Given the description of an element on the screen output the (x, y) to click on. 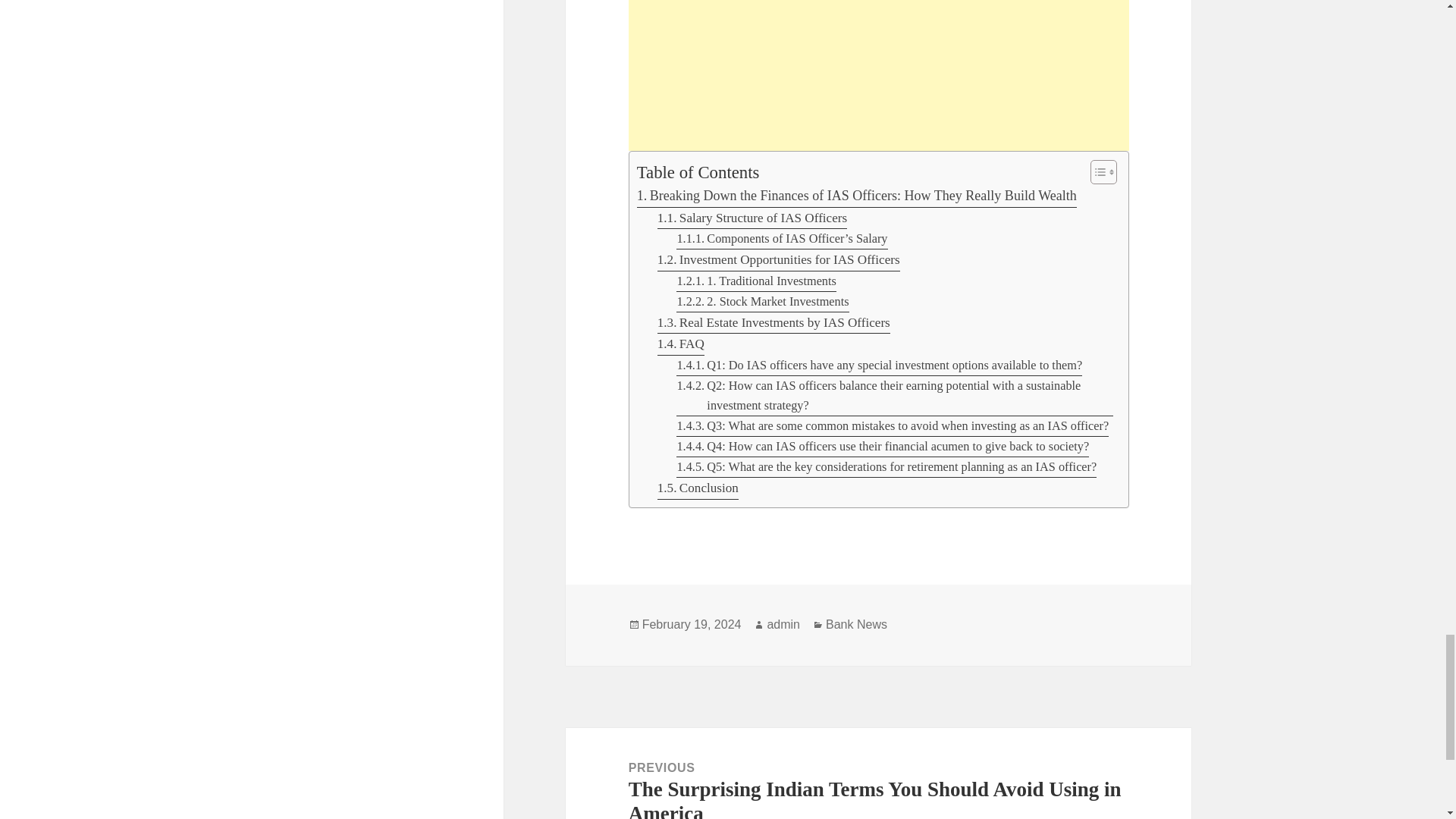
Salary Structure of IAS Officers (752, 218)
Real Estate Investments by IAS Officers (773, 322)
Bank News (855, 624)
Real Estate Investments by IAS Officers (773, 322)
Investment Opportunities for IAS Officers (778, 260)
FAQ (681, 343)
FAQ (681, 343)
1. Traditional Investments (756, 281)
Conclusion (698, 487)
2. Stock Market Investments (762, 301)
Salary Structure of IAS Officers (752, 218)
